Given the description of an element on the screen output the (x, y) to click on. 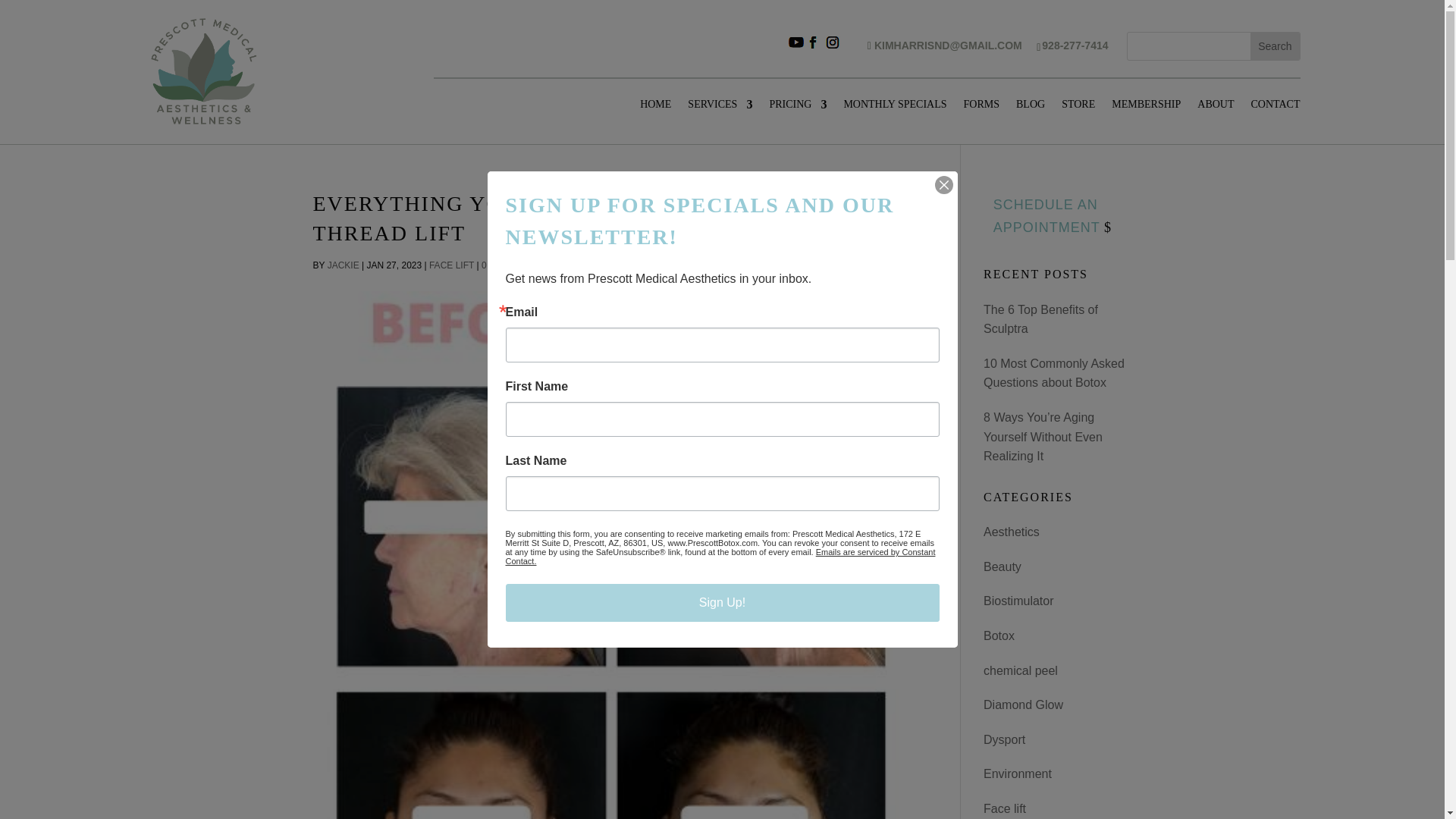
STORE (1077, 107)
Search (1274, 45)
BLOG (1030, 107)
Posts by jackie (343, 265)
MEMBERSHIP (1146, 107)
PRICING (797, 107)
Close (943, 185)
MONTHLY SPECIALS (894, 107)
ABOUT (1214, 107)
HOME (655, 107)
928-277-7414 (1075, 45)
Search (1274, 45)
FINAL PMA WELLNESS LOGO-10 (204, 70)
CONTACT (1275, 107)
FORMS (980, 107)
